Given the description of an element on the screen output the (x, y) to click on. 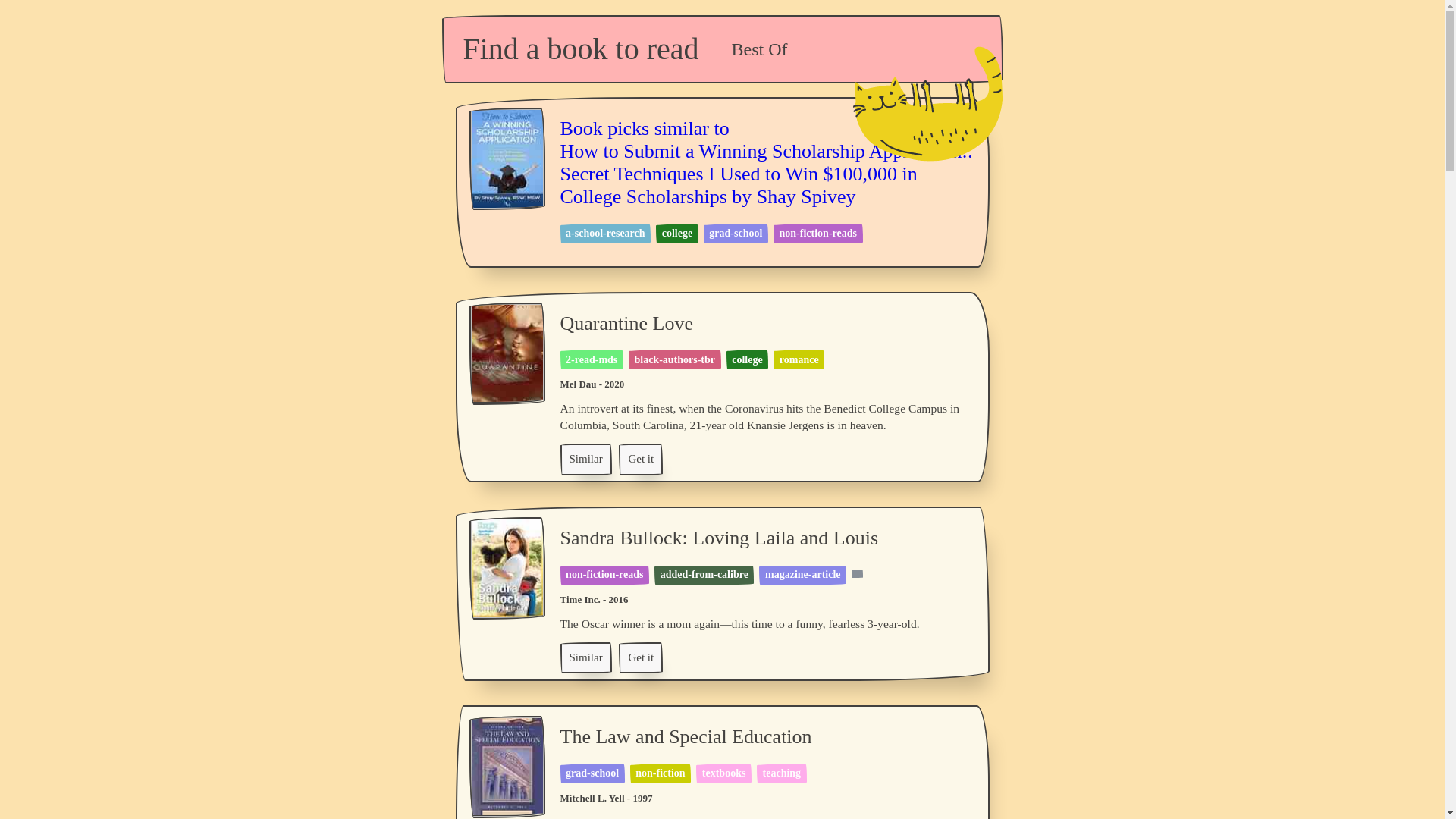
Similar (585, 459)
teaching (782, 772)
non-fiction (659, 772)
textbooks (723, 772)
grad-school (592, 772)
Find a book to read (580, 49)
college (746, 359)
added-from-calibre (704, 573)
Similar (585, 657)
Get it (640, 459)
